Given the description of an element on the screen output the (x, y) to click on. 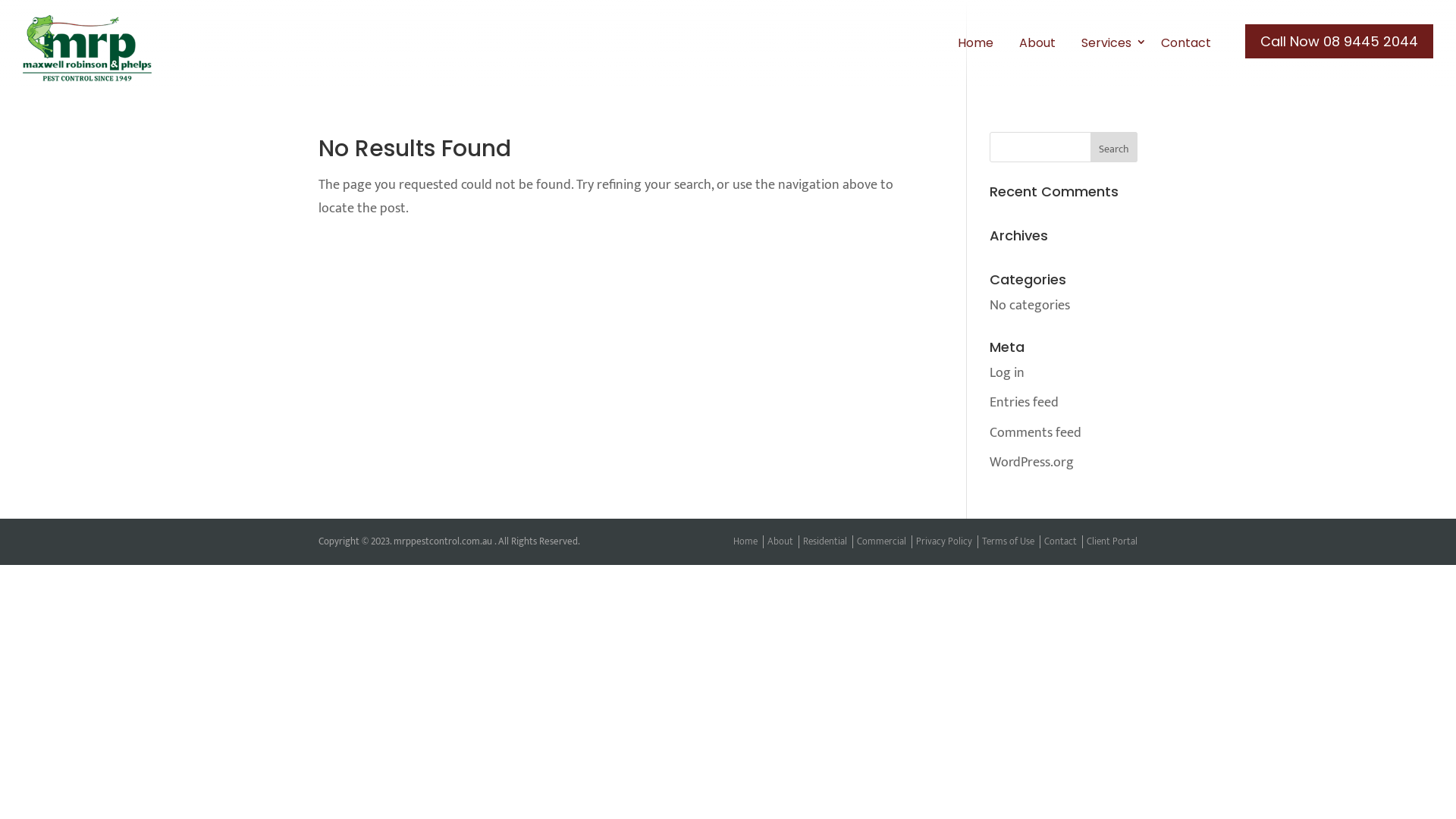
Services Element type: text (1108, 42)
Comments feed Element type: text (1035, 432)
Entries feed Element type: text (1023, 402)
Home Element type: text (745, 541)
WordPress.org Element type: text (1031, 462)
About Element type: text (780, 541)
Terms of Use Element type: text (1008, 541)
Home Element type: text (975, 42)
Client Portal Element type: text (1111, 541)
Commercial Element type: text (881, 541)
Log in Element type: text (1006, 372)
Contact Element type: text (1060, 541)
Call Now 08 9445 2044 Element type: text (1339, 41)
Residential Element type: text (825, 541)
Privacy Policy Element type: text (944, 541)
Contact Element type: text (1185, 42)
About Element type: text (1036, 42)
Search Element type: text (1113, 146)
